Given the description of an element on the screen output the (x, y) to click on. 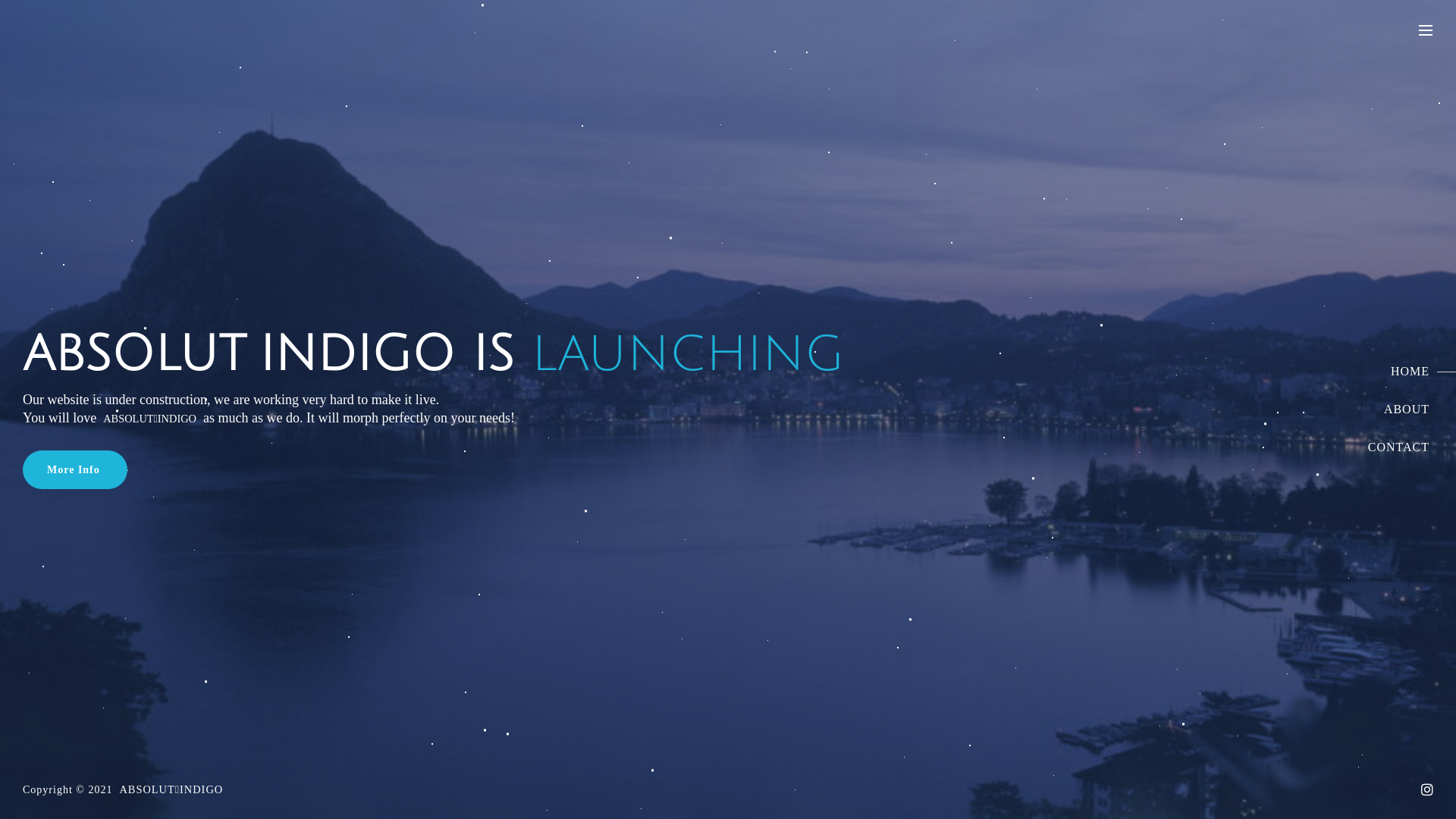
Instagram Element type: hover (1427, 789)
ABOUT Element type: text (1398, 409)
HOME Element type: text (1398, 371)
CONTACT Element type: text (1398, 447)
